Given the description of an element on the screen output the (x, y) to click on. 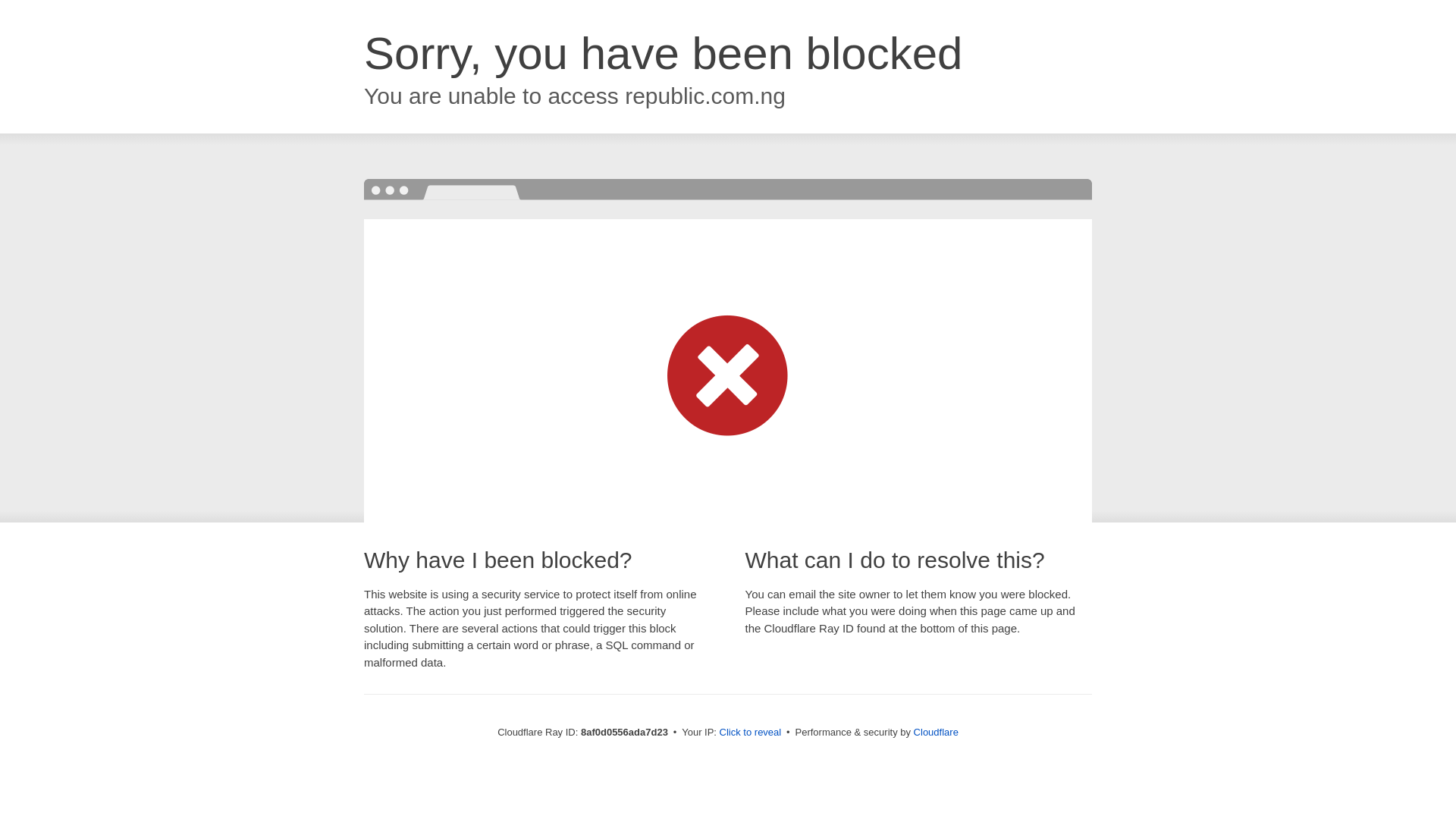
Cloudflare (936, 731)
Click to reveal (750, 732)
